Given the description of an element on the screen output the (x, y) to click on. 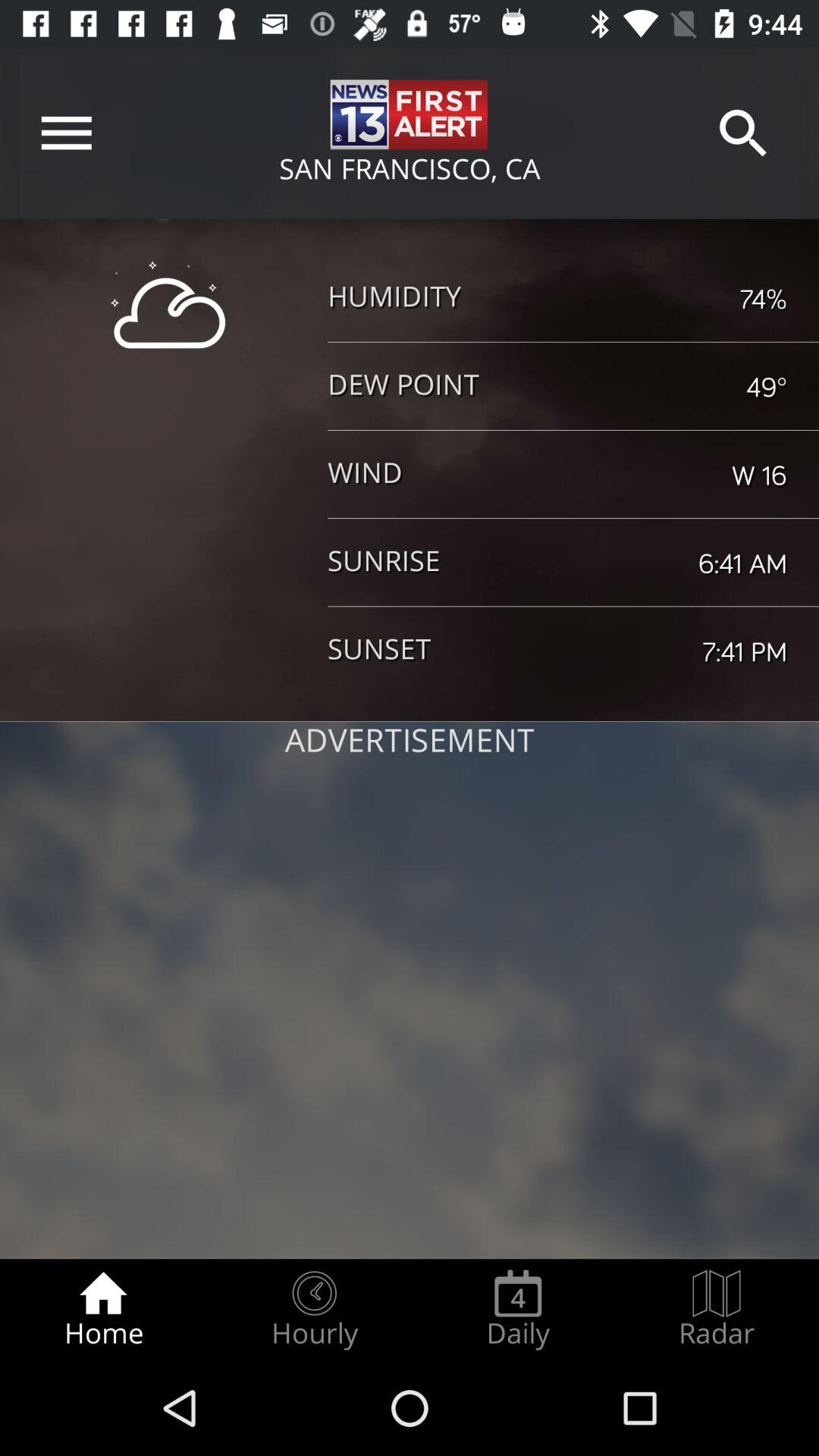
open the daily radio button (518, 1309)
